Given the description of an element on the screen output the (x, y) to click on. 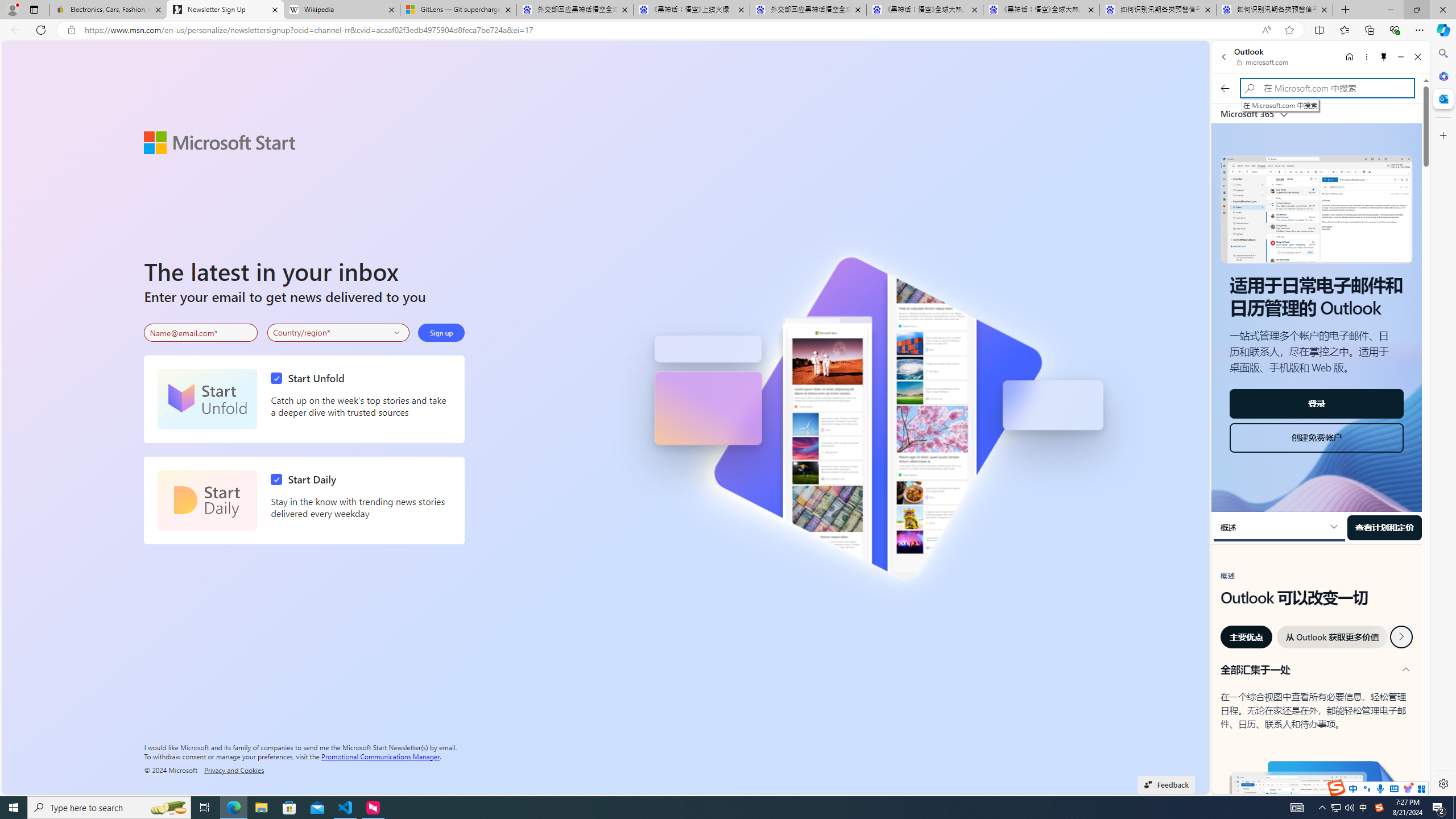
Privacy and Cookies (233, 769)
Favorites (1344, 29)
Close tab (1324, 9)
Tab actions menu (33, 9)
Refresh (40, 29)
More options (1366, 56)
Microsoft 365 (1442, 76)
Browser essentials (1394, 29)
Close (1417, 56)
